Given the description of an element on the screen output the (x, y) to click on. 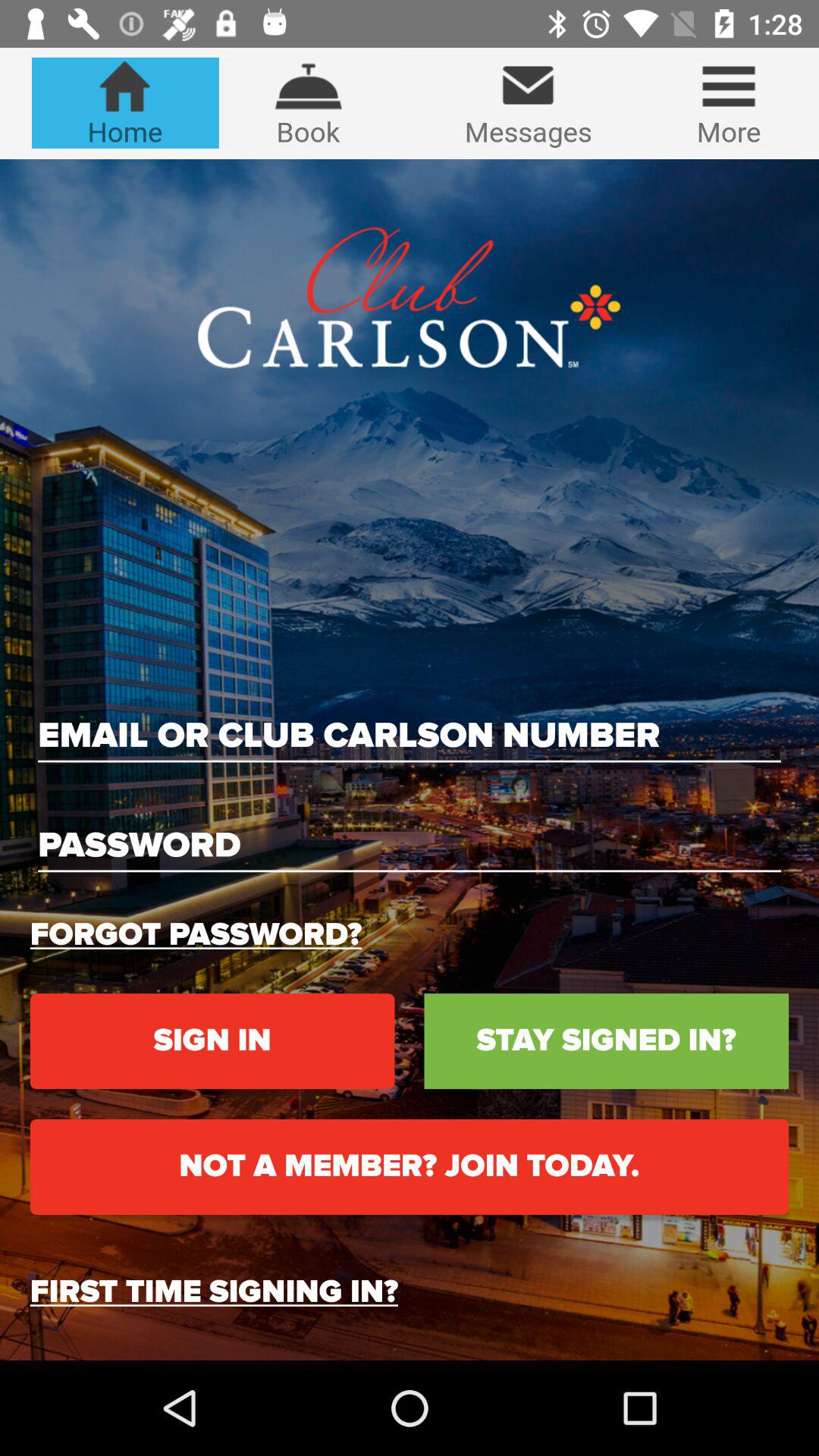
for password (409, 845)
